Given the description of an element on the screen output the (x, y) to click on. 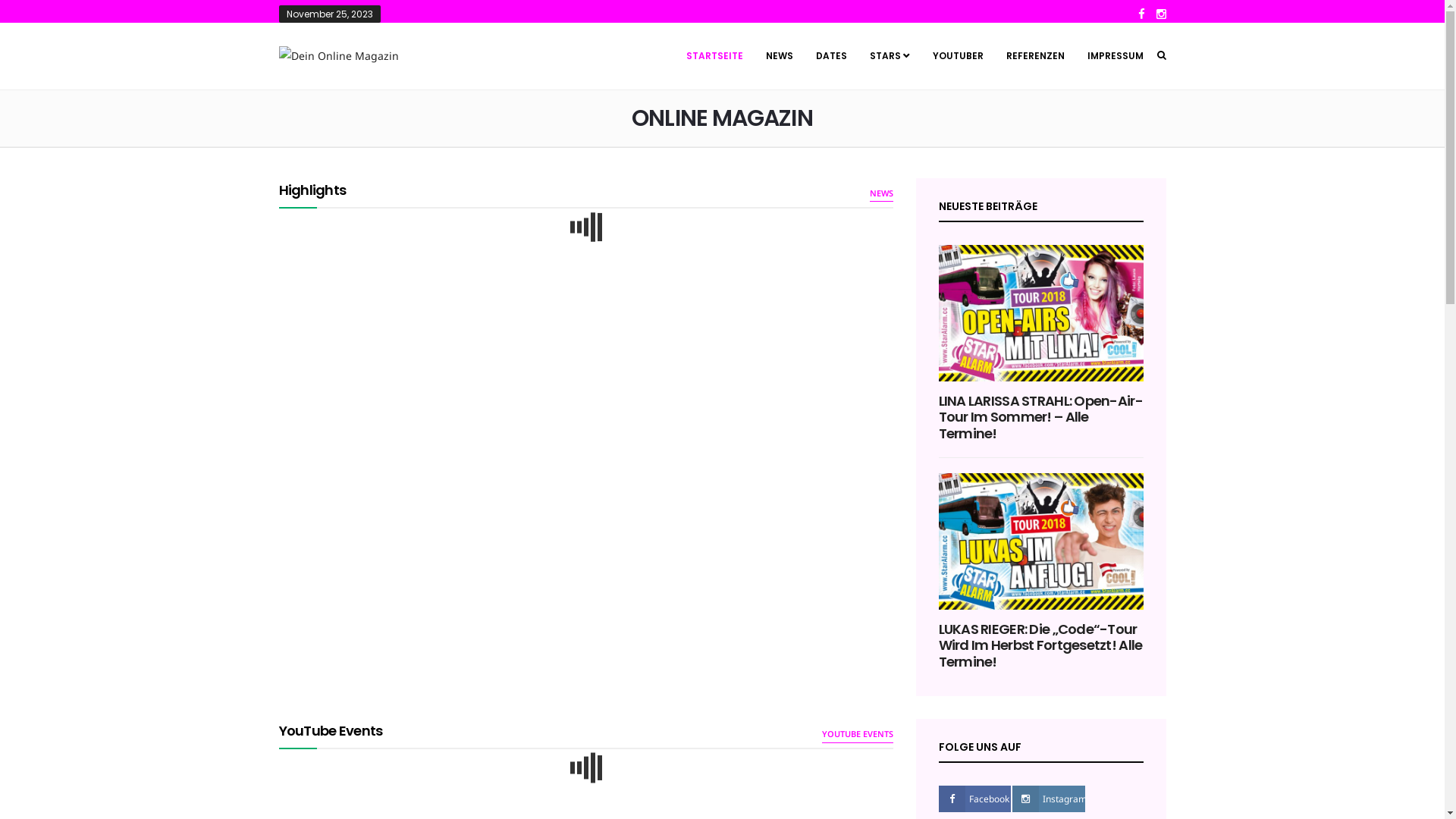
YOUTUBE EVENTS Element type: text (857, 734)
STARTSEITE Element type: text (714, 55)
Facebook Element type: text (974, 798)
STARS Element type: text (889, 55)
YOUTUBER Element type: text (957, 55)
DATES Element type: text (830, 55)
NEWS Element type: text (778, 55)
Instagram Element type: text (1048, 798)
NEWS Element type: text (880, 193)
REFERENZEN Element type: text (1035, 55)
IMPRESSUM Element type: text (1108, 55)
